Given the description of an element on the screen output the (x, y) to click on. 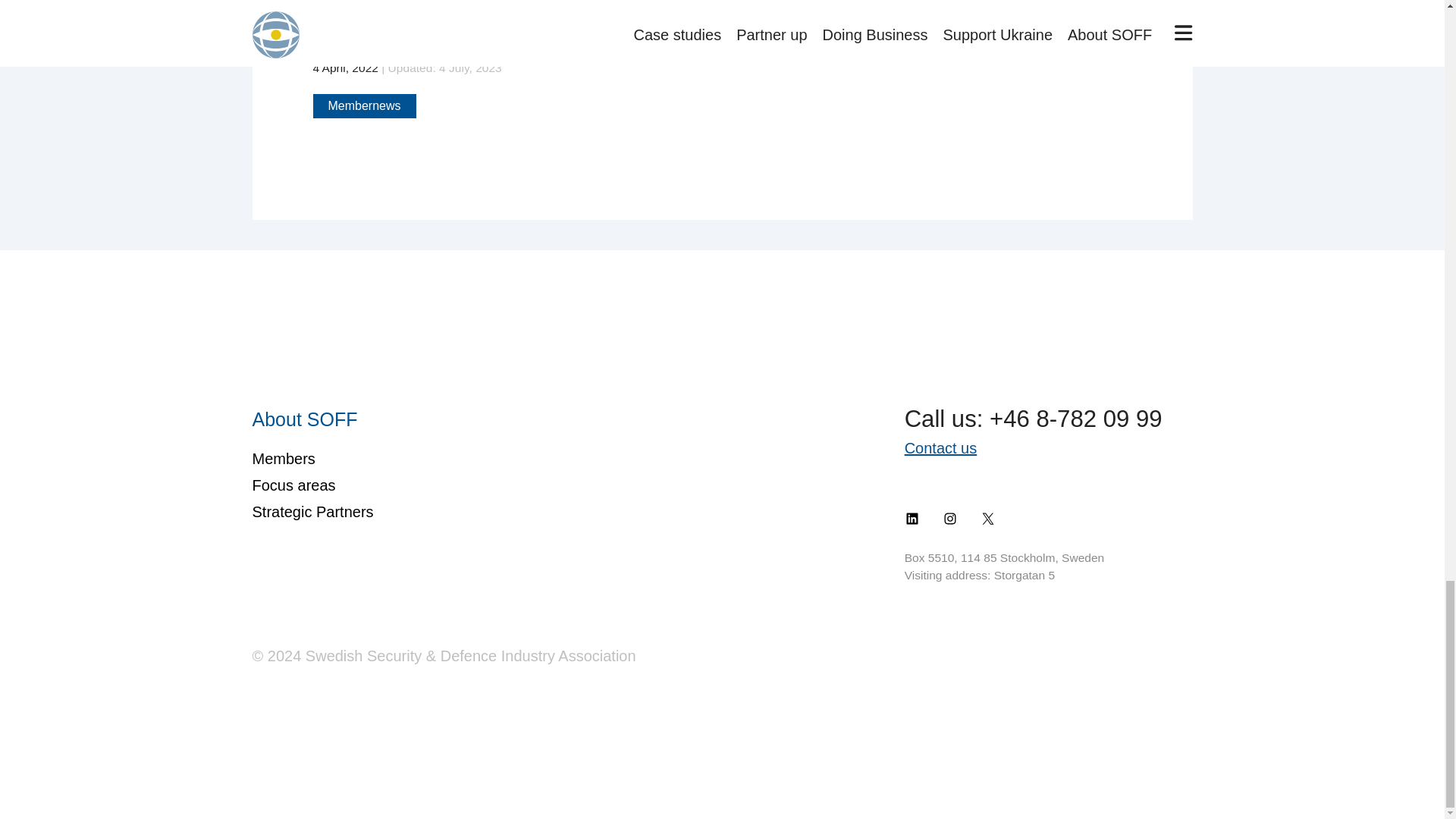
Contact us (940, 447)
Instagram (950, 518)
Members (282, 458)
LinkedIn (912, 518)
About SOFF (303, 418)
Focus areas (292, 484)
X (987, 518)
Membernews (363, 105)
Strategic Partners (311, 511)
